Given the description of an element on the screen output the (x, y) to click on. 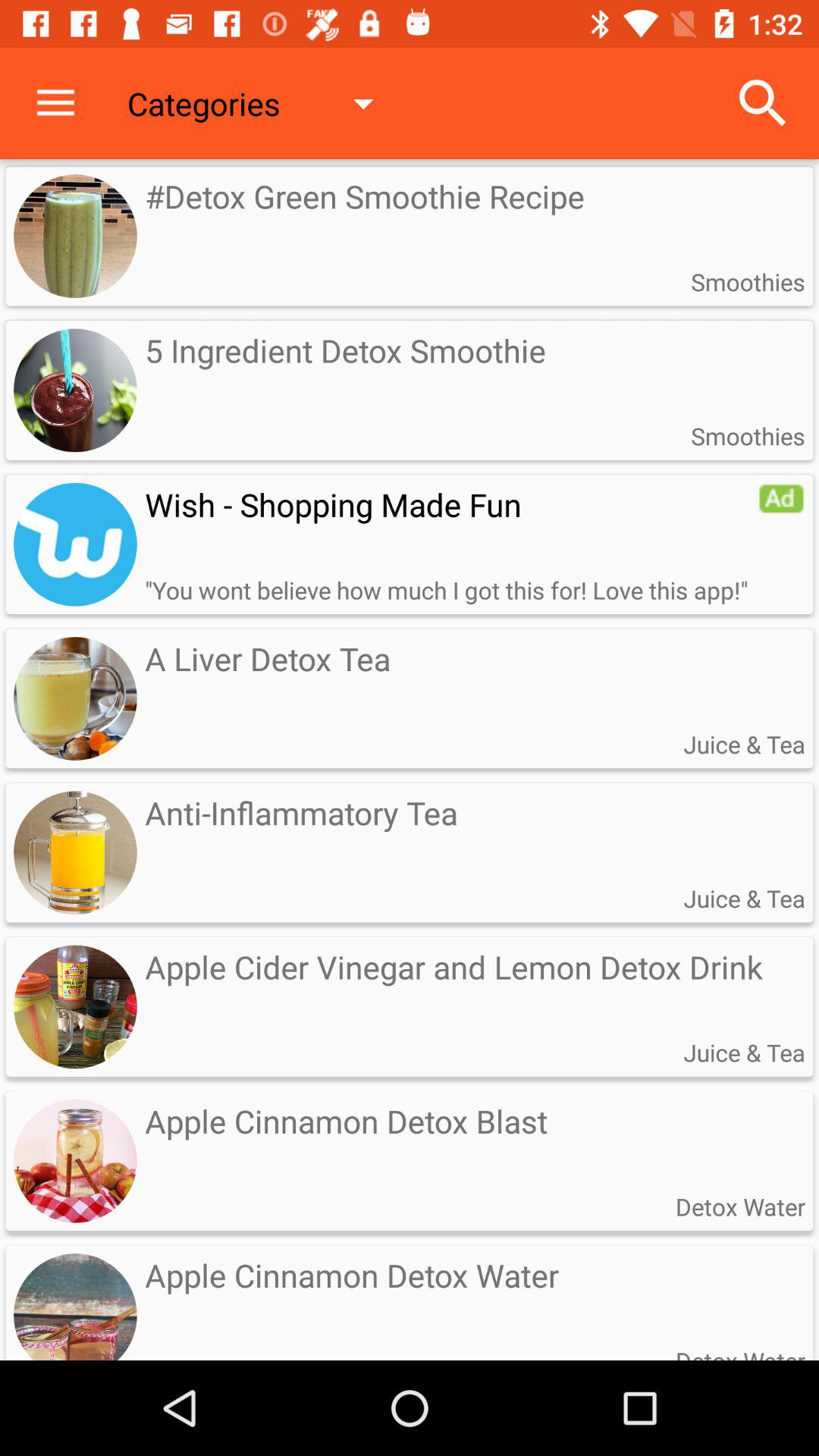
in-app advertisement indicator (781, 498)
